Given the description of an element on the screen output the (x, y) to click on. 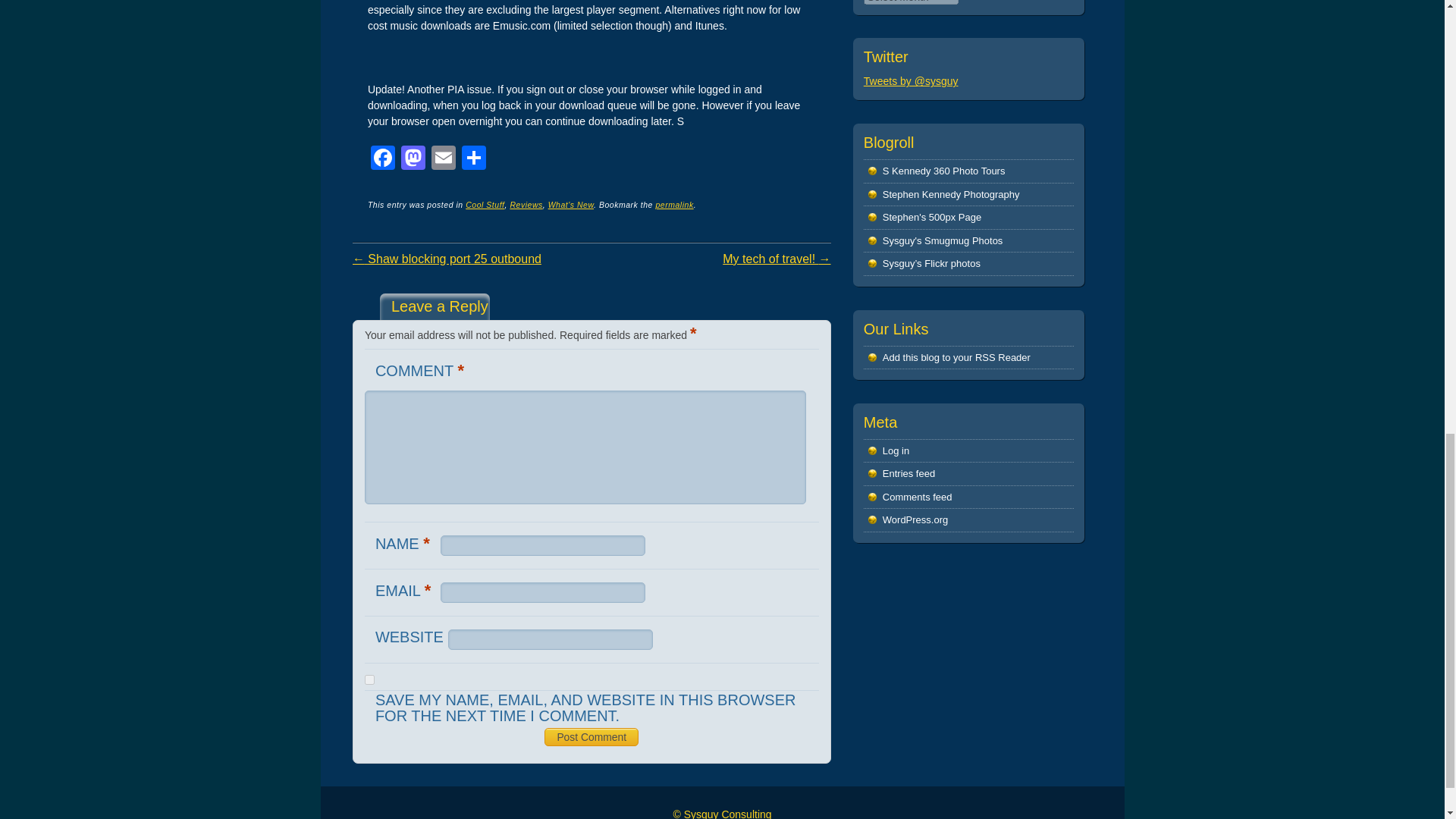
Reviews (525, 204)
Email (443, 159)
Cool Stuff (484, 204)
permalink (674, 204)
Post Comment (591, 737)
Email (443, 159)
yes (369, 679)
Facebook (382, 159)
Permalink to Free Music?? (674, 204)
What's New (571, 204)
